Given the description of an element on the screen output the (x, y) to click on. 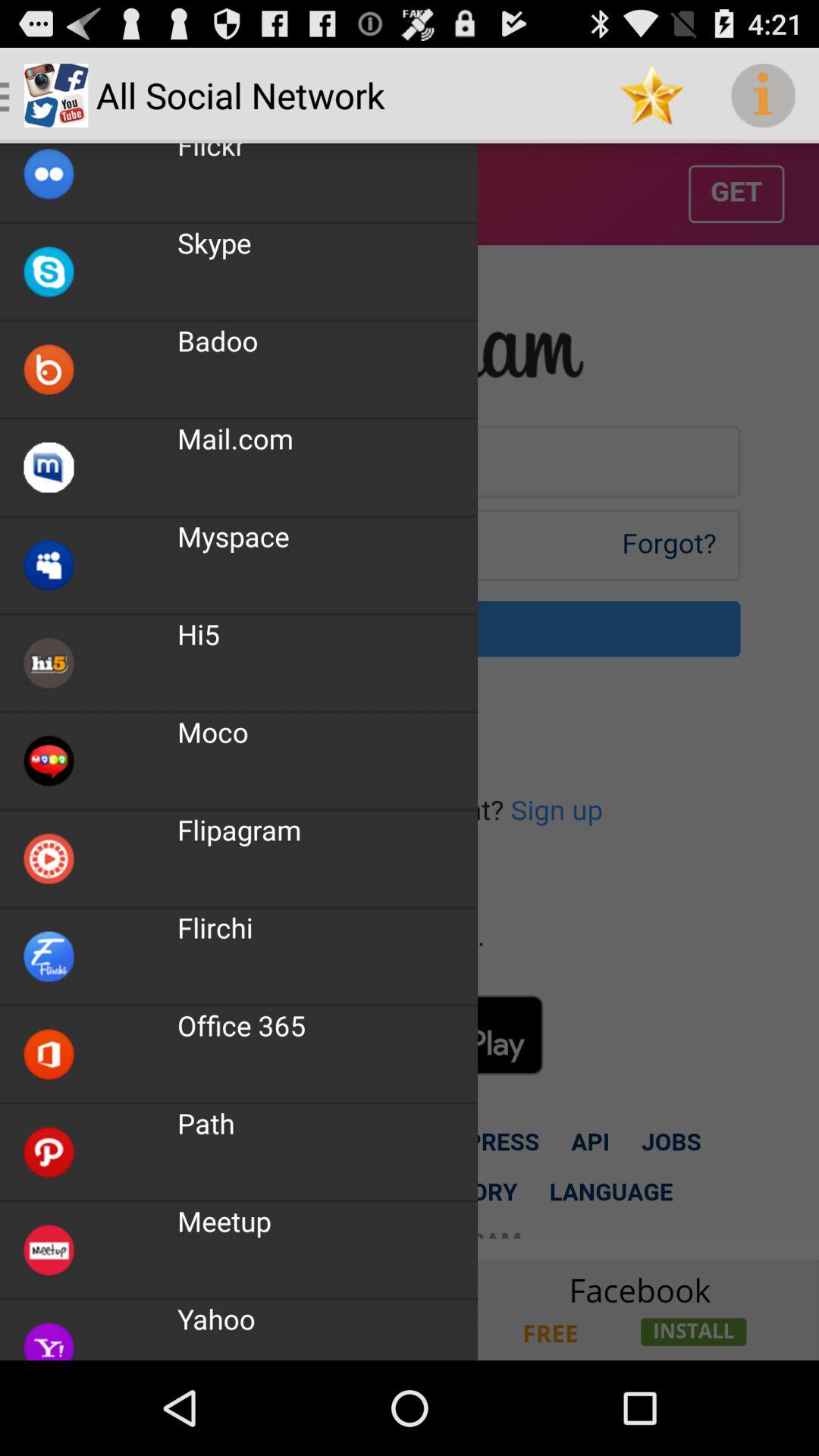
jump until the yahoo item (215, 1318)
